Given the description of an element on the screen output the (x, y) to click on. 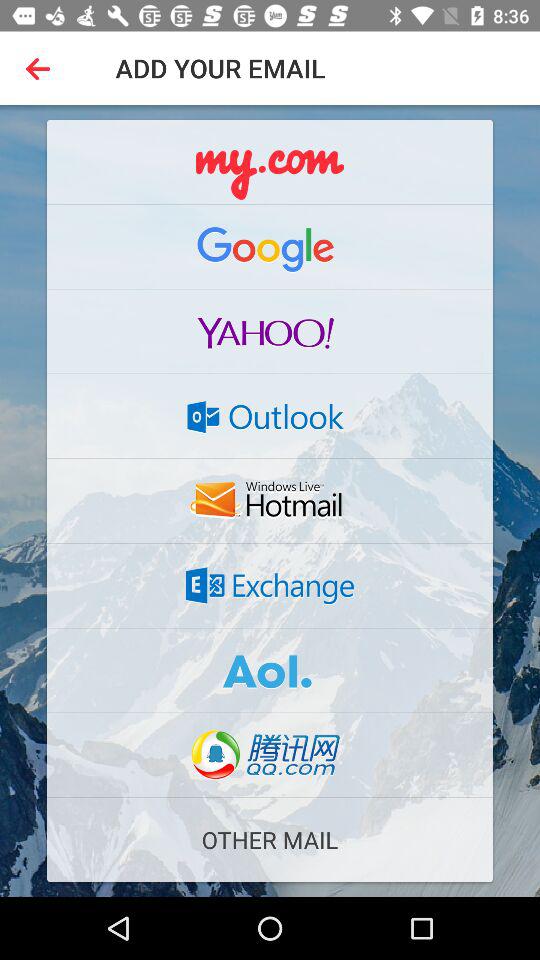
select hotmail (269, 501)
